Given the description of an element on the screen output the (x, y) to click on. 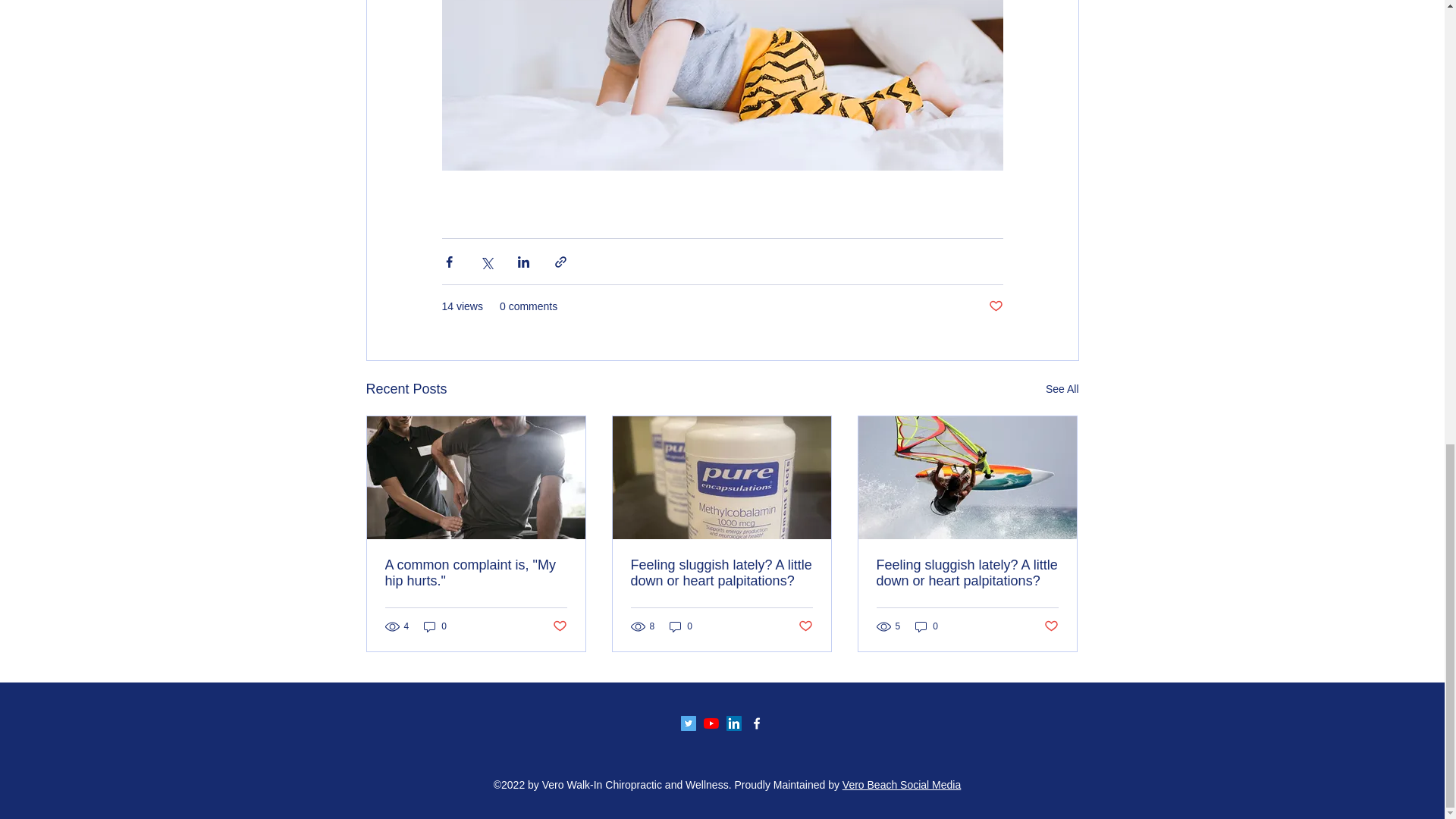
Vero Beach Social Media (901, 784)
0 (681, 626)
0 (435, 626)
Post not marked as liked (995, 306)
Post not marked as liked (1050, 626)
0 (926, 626)
Post not marked as liked (804, 626)
See All (1061, 389)
